Given the description of an element on the screen output the (x, y) to click on. 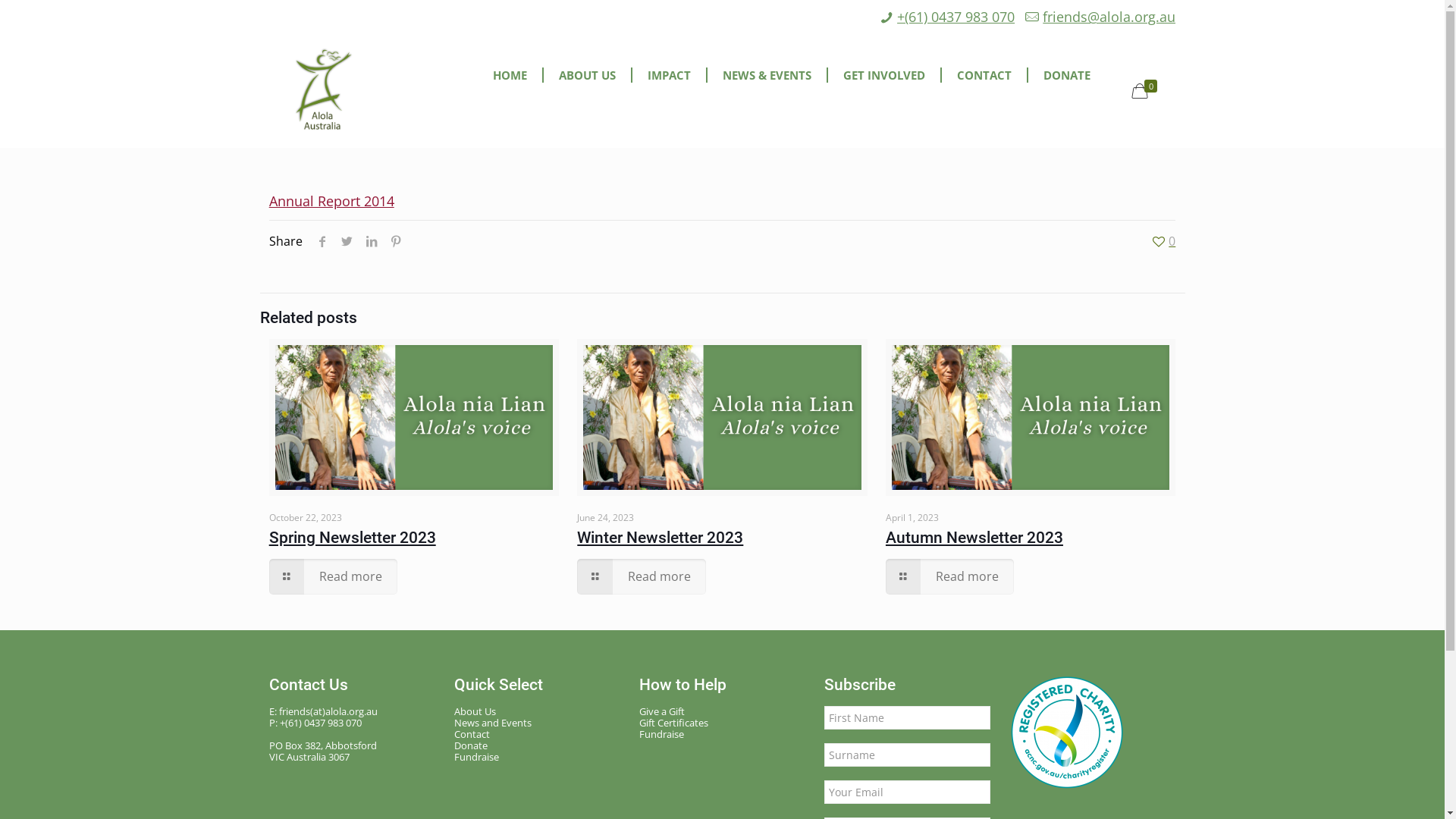
0 Element type: text (1162, 241)
Winter Newsletter 2023 Element type: text (660, 537)
ABOUT US Element type: text (587, 74)
Alola Australia Element type: hover (323, 90)
0 Element type: text (1146, 90)
Read more Element type: text (641, 576)
NEWS & EVENTS Element type: text (767, 74)
Give a Gift Element type: text (722, 711)
GET INVOLVED Element type: text (884, 74)
Contact Element type: text (537, 734)
About Us Element type: text (537, 711)
Autumn Newsletter 2023 Element type: text (974, 537)
HOME Element type: text (510, 74)
IMPACT Element type: text (669, 74)
CONTACT Element type: text (984, 74)
DONATE Element type: text (1066, 74)
Gift Certificates Element type: text (722, 722)
Spring Newsletter 2023 Element type: text (352, 537)
Fundraise Element type: text (722, 734)
friends@alola.org.au Element type: text (1108, 16)
Read more Element type: text (949, 576)
Donate Element type: text (537, 745)
News and Events Element type: text (537, 722)
Annual Report 2014 Element type: text (331, 200)
Read more Element type: text (333, 576)
Fundraise Element type: text (537, 756)
+(61) 0437 983 070 Element type: text (955, 16)
